Given the description of an element on the screen output the (x, y) to click on. 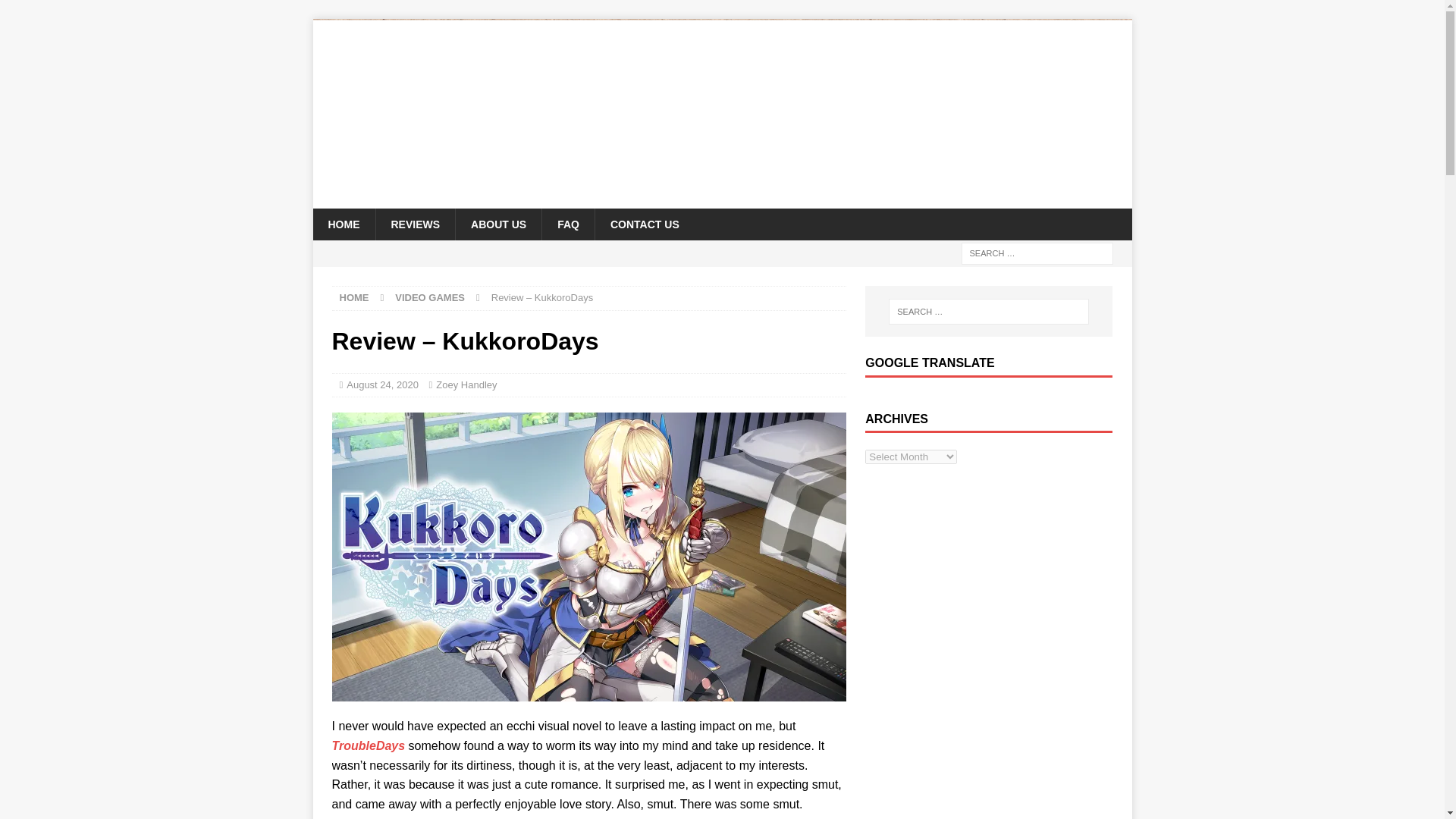
Search (56, 11)
REVIEWS (414, 224)
FAQ (567, 224)
Game Complaint Department (722, 199)
TroubleDays (368, 745)
ABOUT US (497, 224)
Zoey Handley (465, 384)
CONTACT US (644, 224)
VIDEO GAMES (429, 297)
August 24, 2020 (382, 384)
HOME (354, 297)
HOME (343, 224)
